Given the description of an element on the screen output the (x, y) to click on. 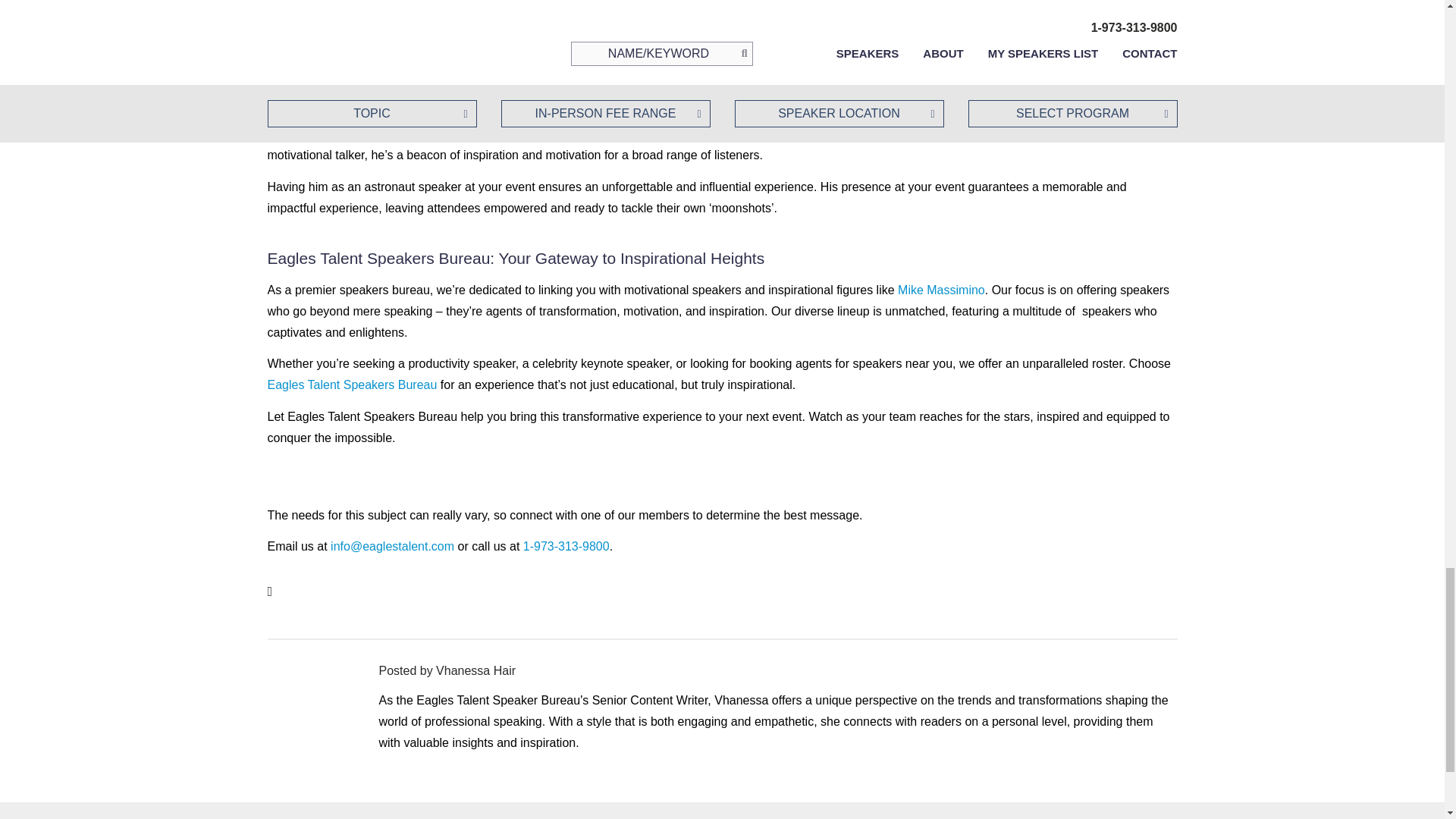
Mike Massimino (941, 289)
1-973-313-9800 (566, 545)
Eagles Talent Speakers Bureau (351, 384)
top motivational speakers (410, 112)
NASA (760, 112)
Contact Us by Phone 1-973-313-9800 (566, 545)
